Given the description of an element on the screen output the (x, y) to click on. 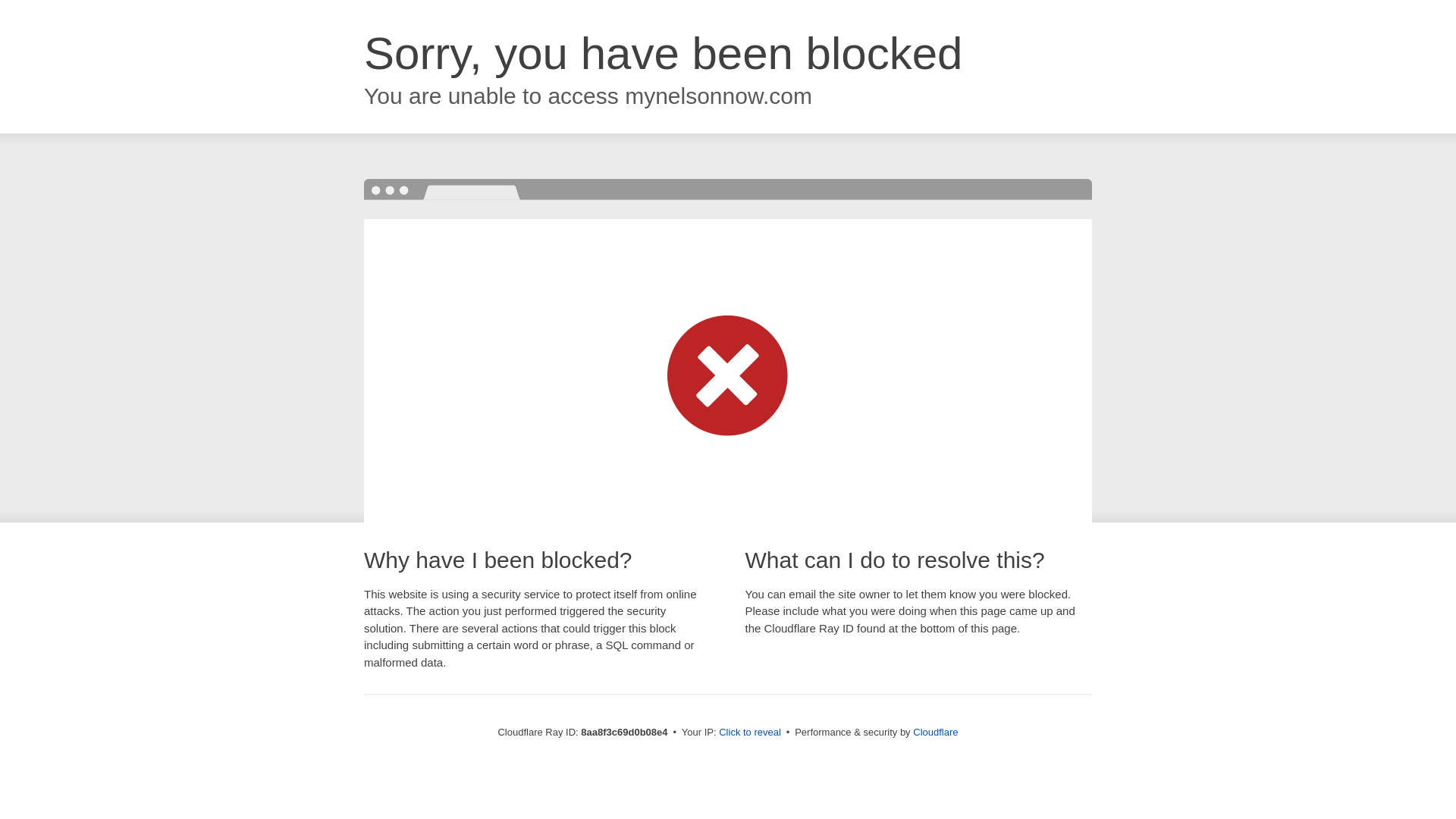
Click to reveal (749, 732)
Cloudflare (935, 731)
